Given the description of an element on the screen output the (x, y) to click on. 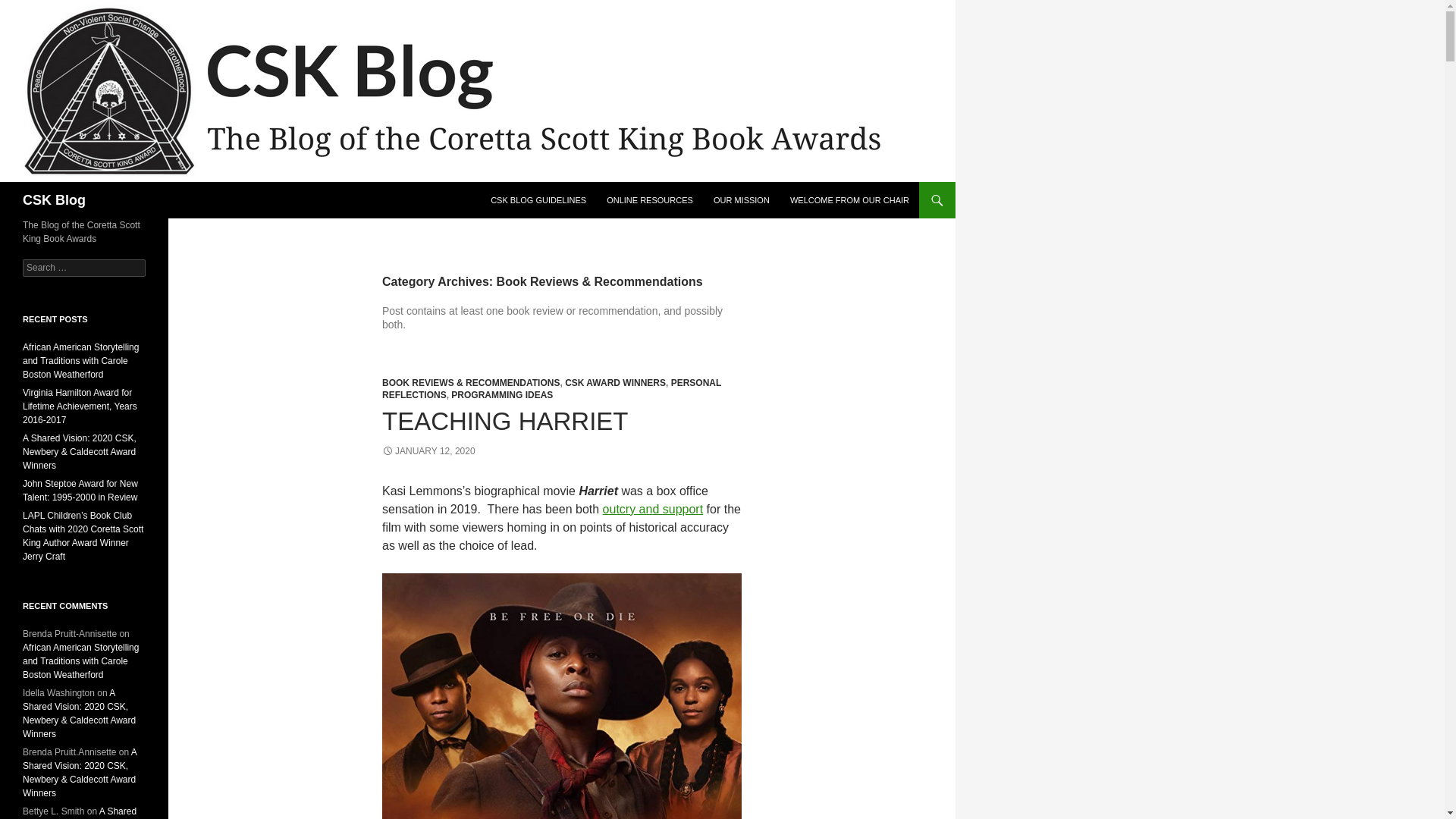
CSK Blog (54, 199)
JANUARY 12, 2020 (428, 450)
PERSONAL REFLECTIONS (550, 388)
PROGRAMMING IDEAS (502, 394)
CSK AWARD WINNERS (614, 382)
ONLINE RESOURCES (648, 199)
outcry and support (652, 508)
TEACHING HARRIET (504, 420)
OUR MISSION (741, 199)
WELCOME FROM OUR CHAIR (849, 199)
CSK BLOG GUIDELINES (538, 199)
